Given the description of an element on the screen output the (x, y) to click on. 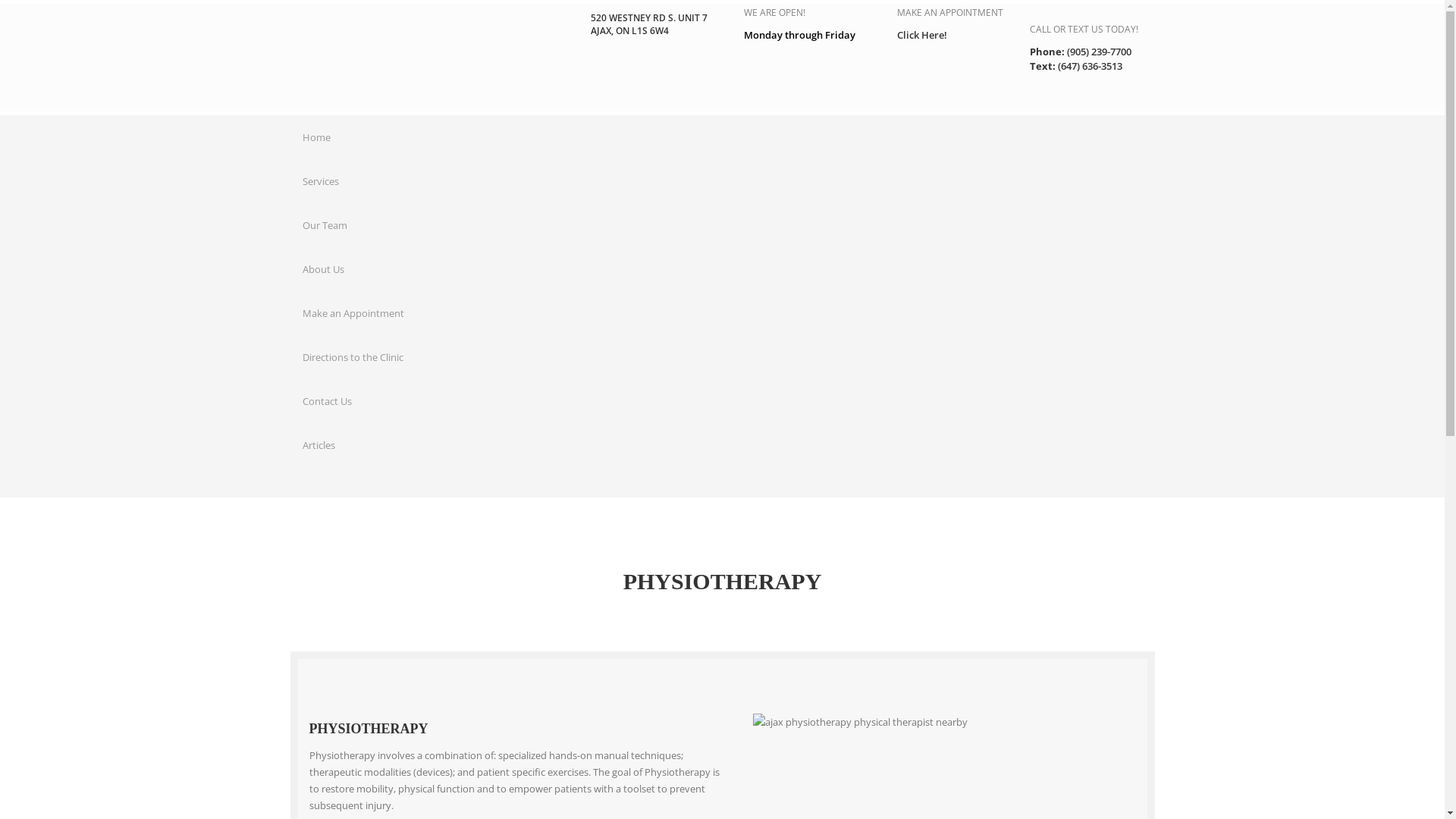
Directions to the Clinic Element type: text (351, 357)
Home Element type: text (315, 137)
WE ARE OPEN! Element type: text (773, 12)
Services Element type: text (319, 181)
About Us Element type: text (322, 269)
MAKE AN APPOINTMENT Element type: text (949, 12)
Text: Element type: text (1042, 65)
Our Team Element type: text (323, 225)
Make an Appointment Element type: text (352, 313)
Phone: (905) 239-7700 Element type: text (1080, 51)
CALL OR TEXT US TODAY! Element type: text (1083, 28)
Articles Element type: text (317, 445)
Click Here! Element type: text (921, 34)
Contact Us Element type: text (326, 401)
(647) 636-3513 Element type: text (1088, 65)
520 WESTNEY RD S. UNIT 7
AJAX, ON L1S 6W4 Element type: text (647, 24)
